Given the description of an element on the screen output the (x, y) to click on. 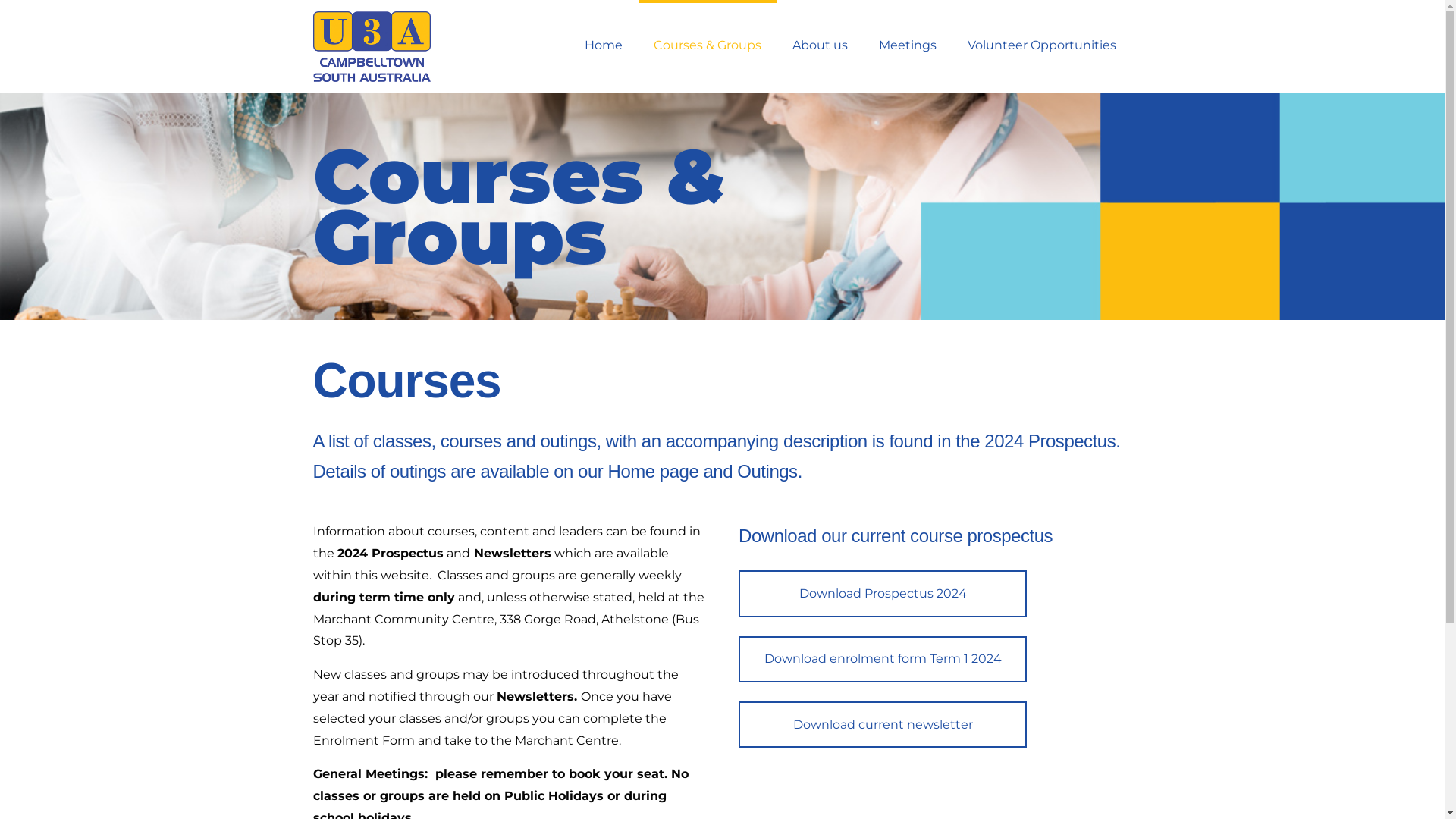
Volunteer Opportunities Element type: text (1042, 45)
Courses & Groups Element type: text (707, 45)
Download enrolment form Term 1 2024 Element type: text (882, 659)
Download current newsletter Element type: text (882, 724)
Meetings Element type: text (906, 45)
Home Element type: text (603, 45)
About us Element type: text (819, 45)
Download Prospectus 2024 Element type: text (882, 593)
